Given the description of an element on the screen output the (x, y) to click on. 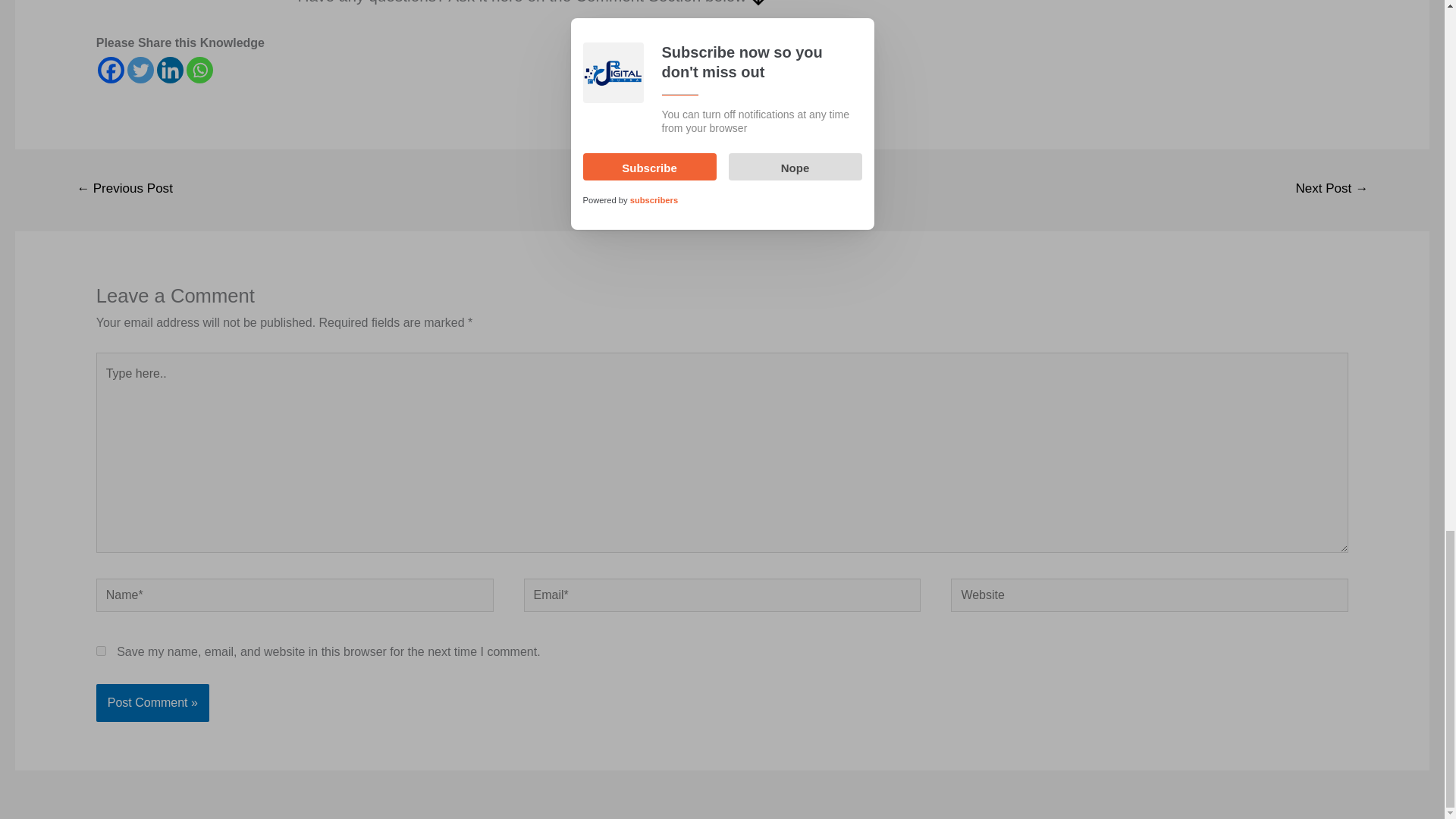
Twitter (141, 69)
Facebook (110, 69)
Whatsapp (199, 69)
Linkedin (170, 69)
yes (101, 651)
